Given the description of an element on the screen output the (x, y) to click on. 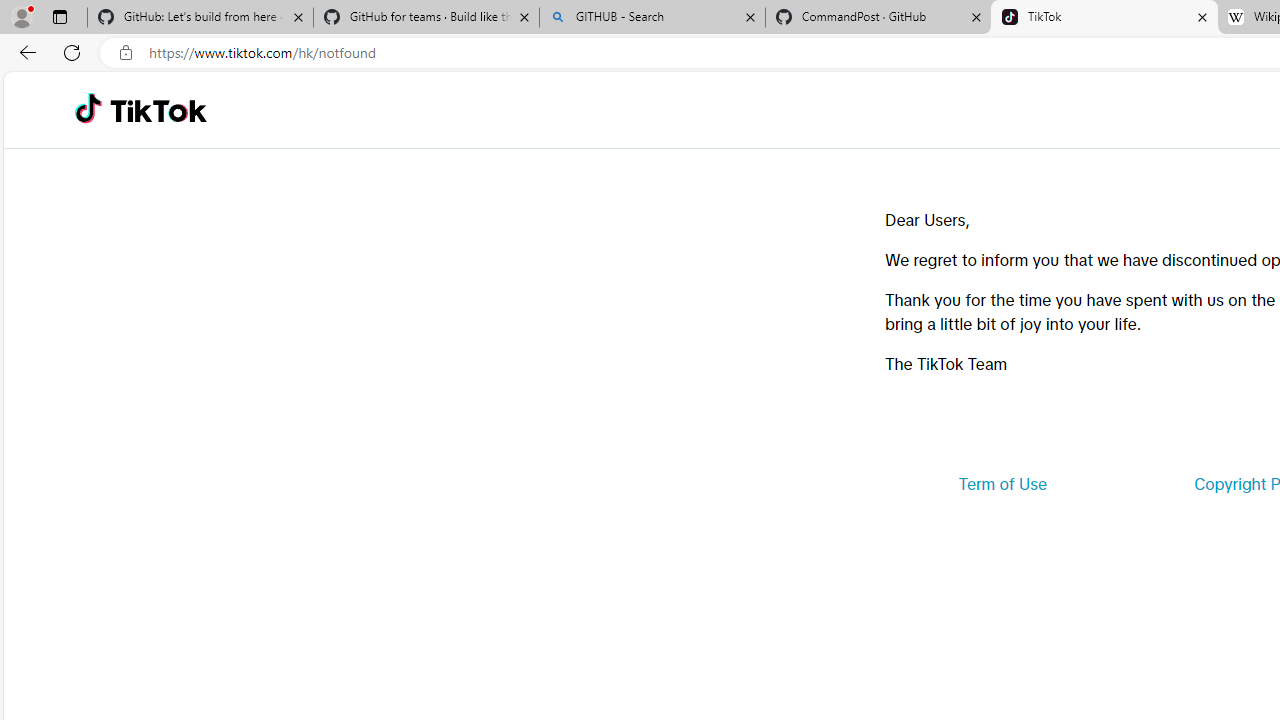
Term of Use (1002, 484)
TikTok (158, 110)
GITHUB - Search (652, 17)
TikTok (1104, 17)
